Given the description of an element on the screen output the (x, y) to click on. 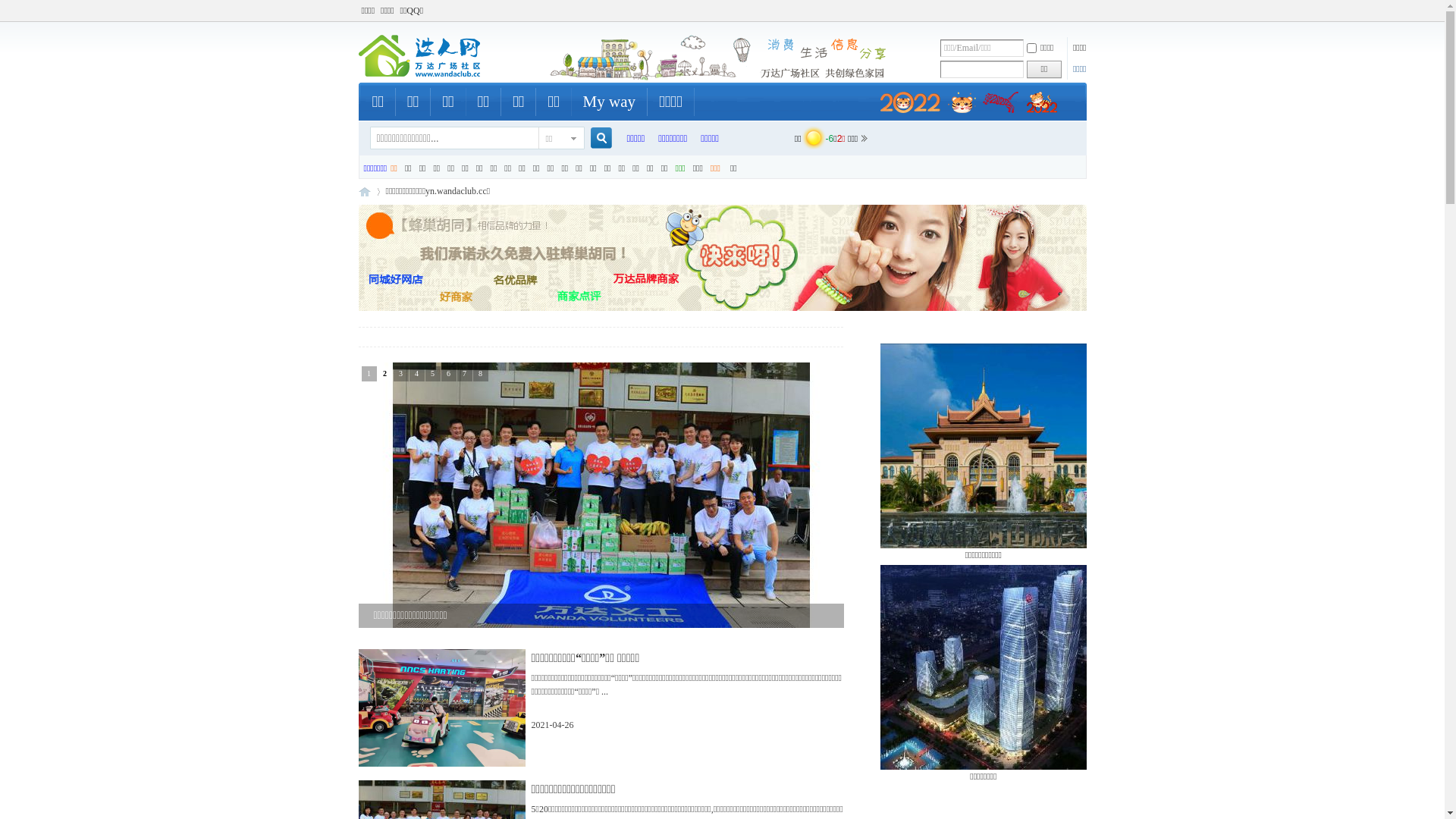
My way Element type: text (608, 101)
true Element type: text (594, 138)
